Given the description of an element on the screen output the (x, y) to click on. 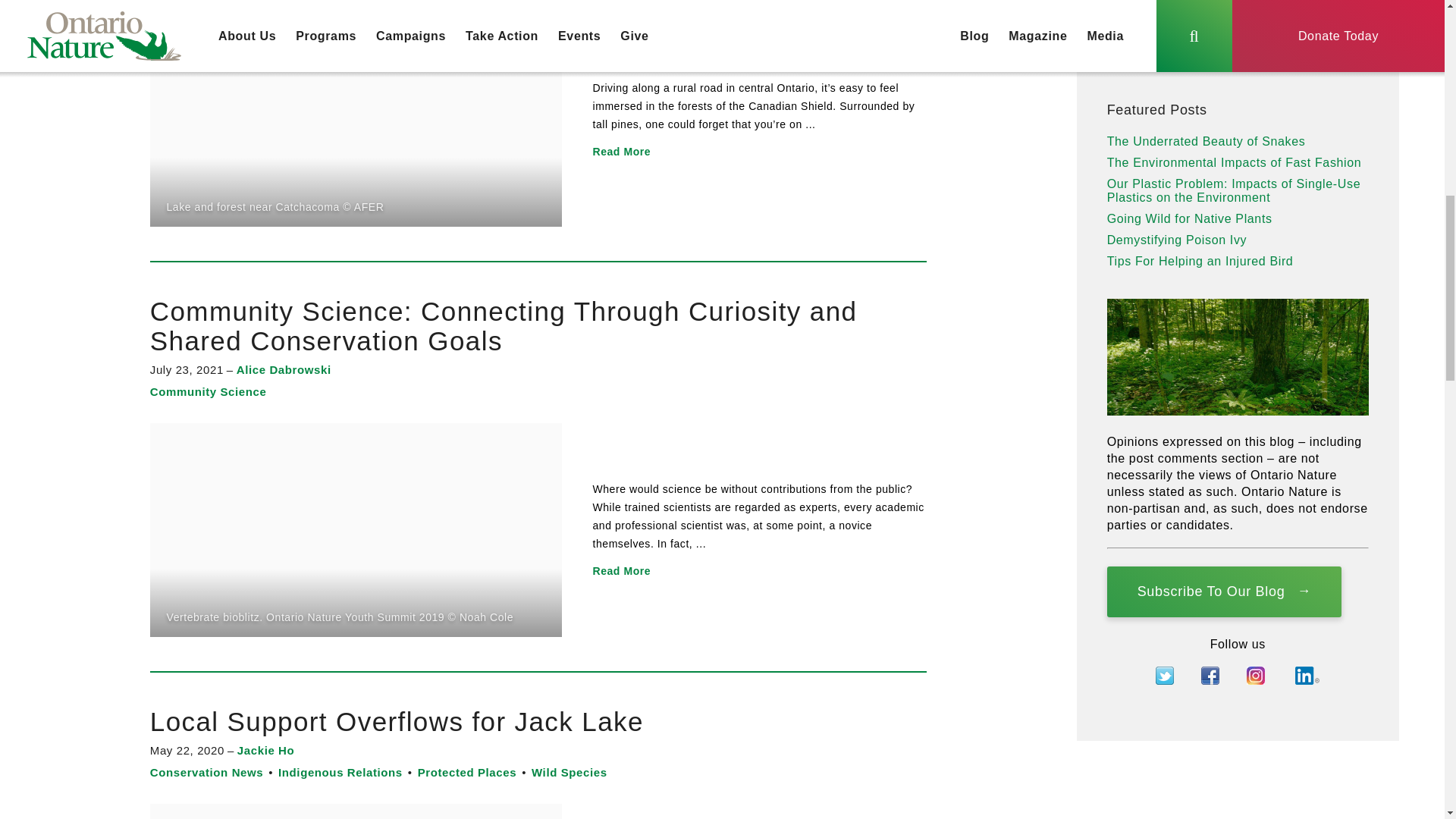
View blog posts (1349, 54)
Select a category (1218, 54)
Authored by: Jackie Ho (265, 749)
Authored by: Alice Dabrowski (283, 369)
Category: Community Science (207, 391)
Signup to receive blog update notifications (1224, 591)
Category: Conservation News (206, 771)
